Given the description of an element on the screen output the (x, y) to click on. 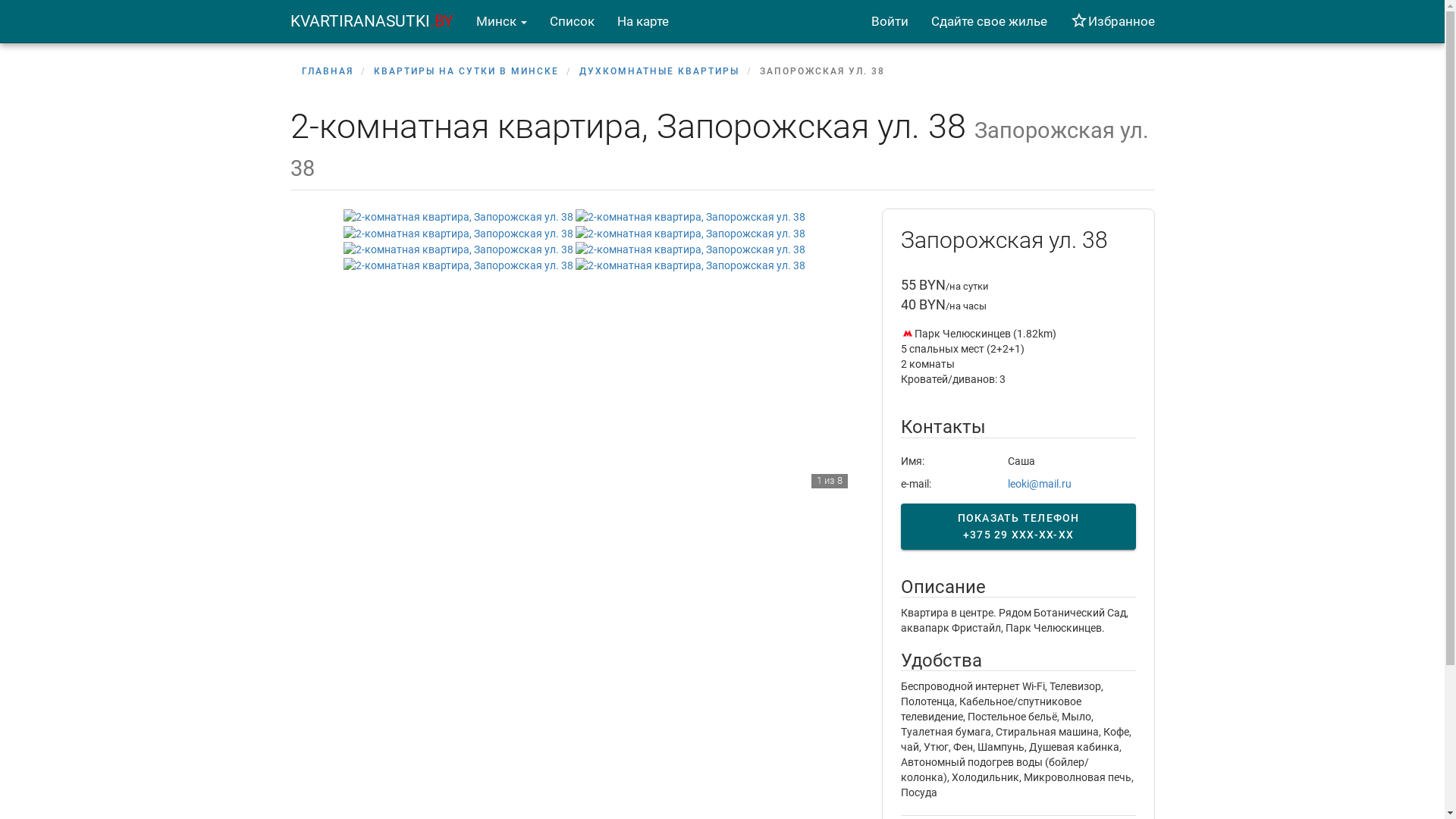
KVARTIRANASUTKI.BY Element type: text (371, 21)
leoki@mail.ru Element type: text (1039, 483)
